Given the description of an element on the screen output the (x, y) to click on. 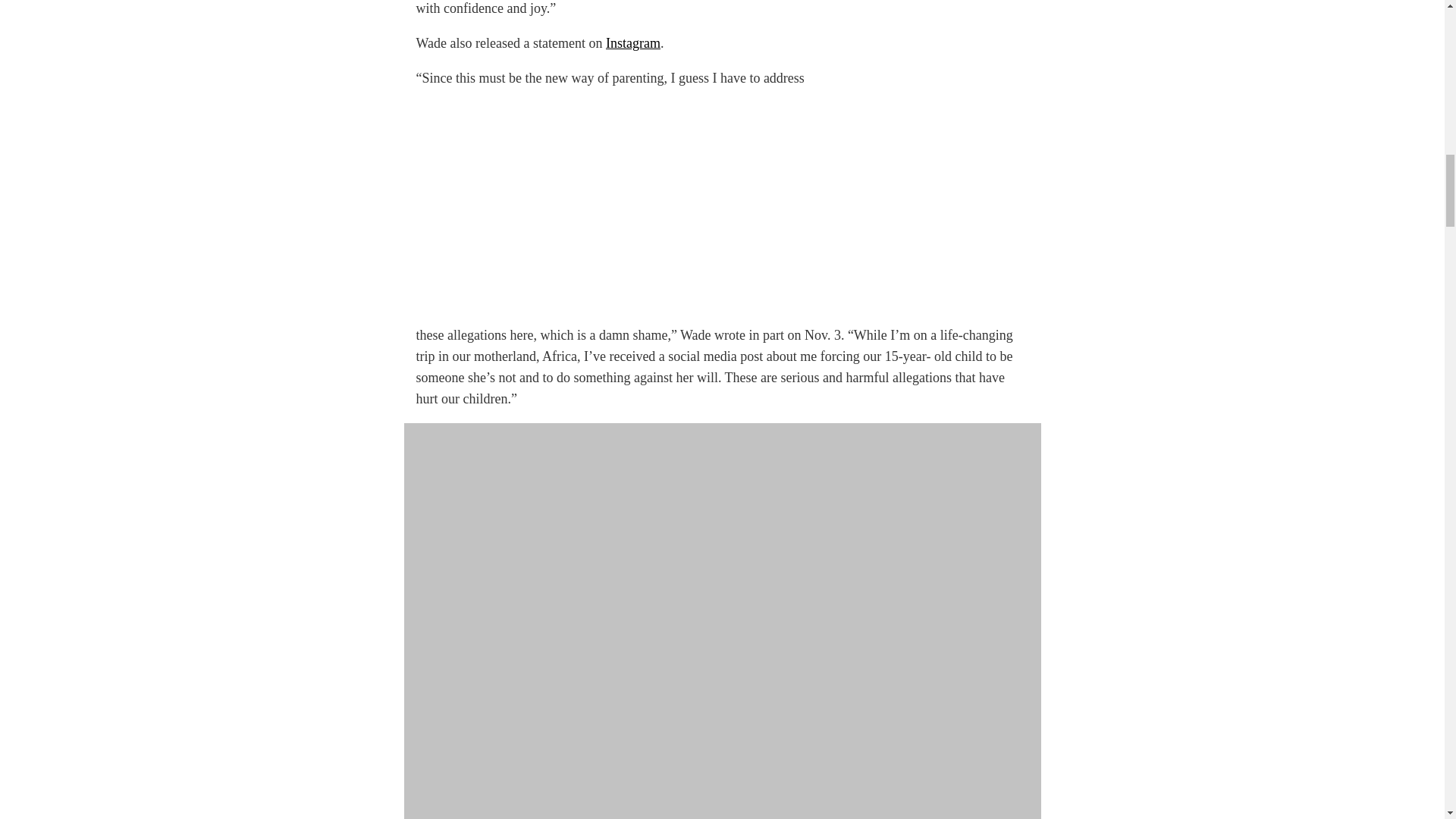
Instagram (633, 43)
